Given the description of an element on the screen output the (x, y) to click on. 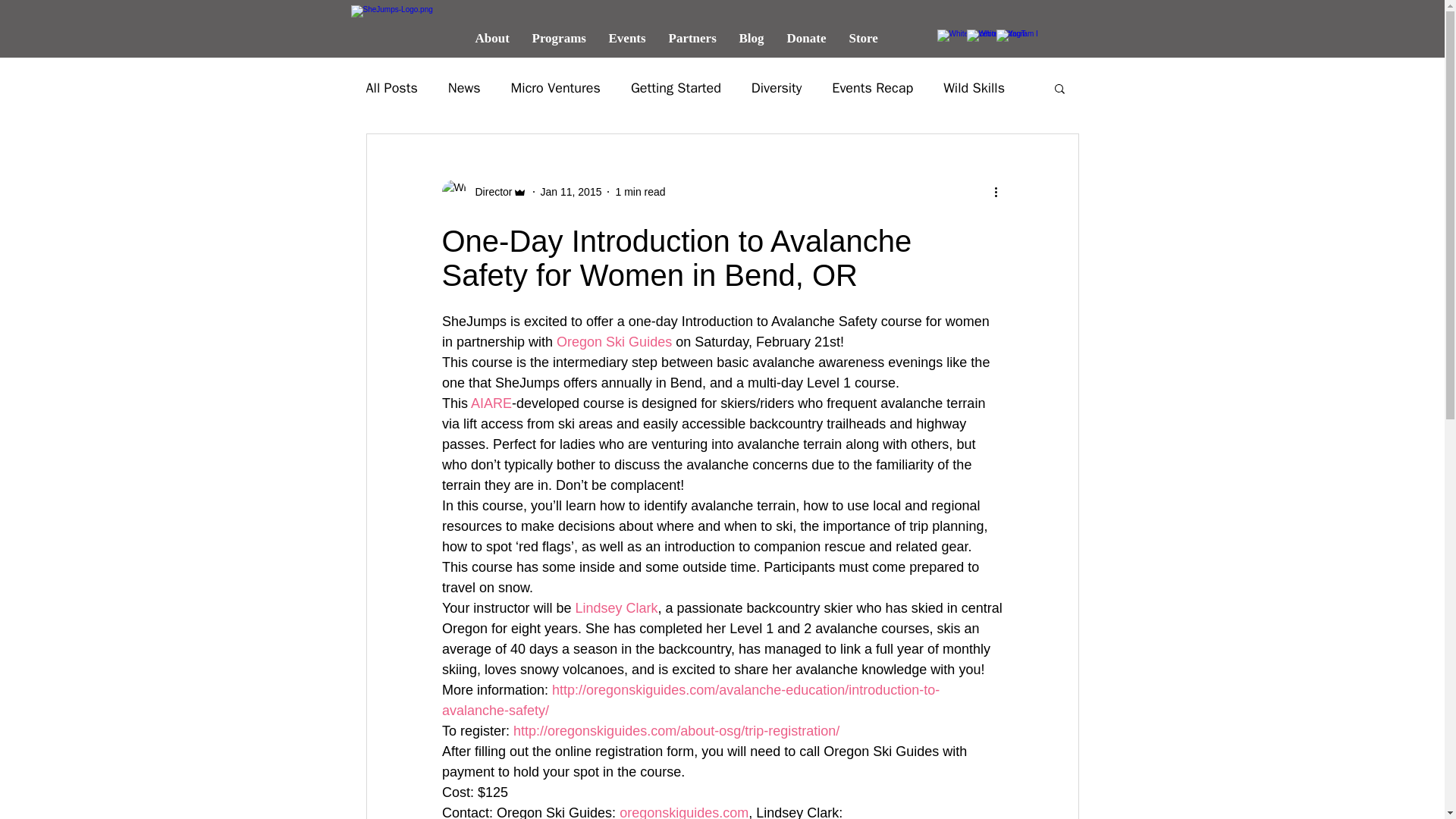
Donate (805, 37)
Events Recap (871, 87)
News (464, 87)
About (492, 37)
All Posts (390, 87)
Wild Skills (973, 87)
Director (488, 191)
Blog (752, 37)
1 min read (639, 191)
Programs (557, 37)
